Given the description of an element on the screen output the (x, y) to click on. 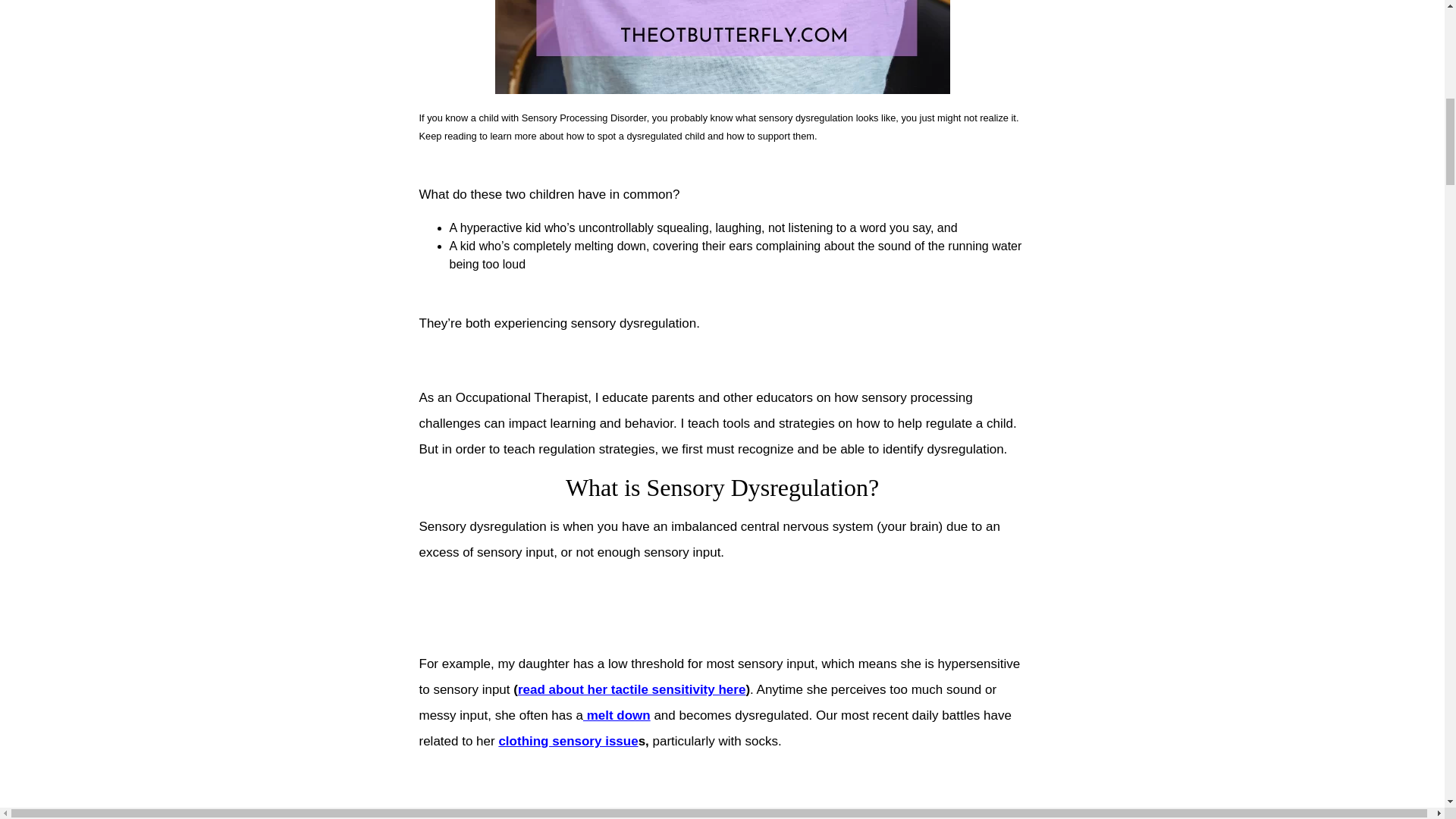
clothing sensory issue (567, 740)
melt down (616, 715)
read about her tactile sensitivity here (631, 689)
high threshold (584, 813)
